Given the description of an element on the screen output the (x, y) to click on. 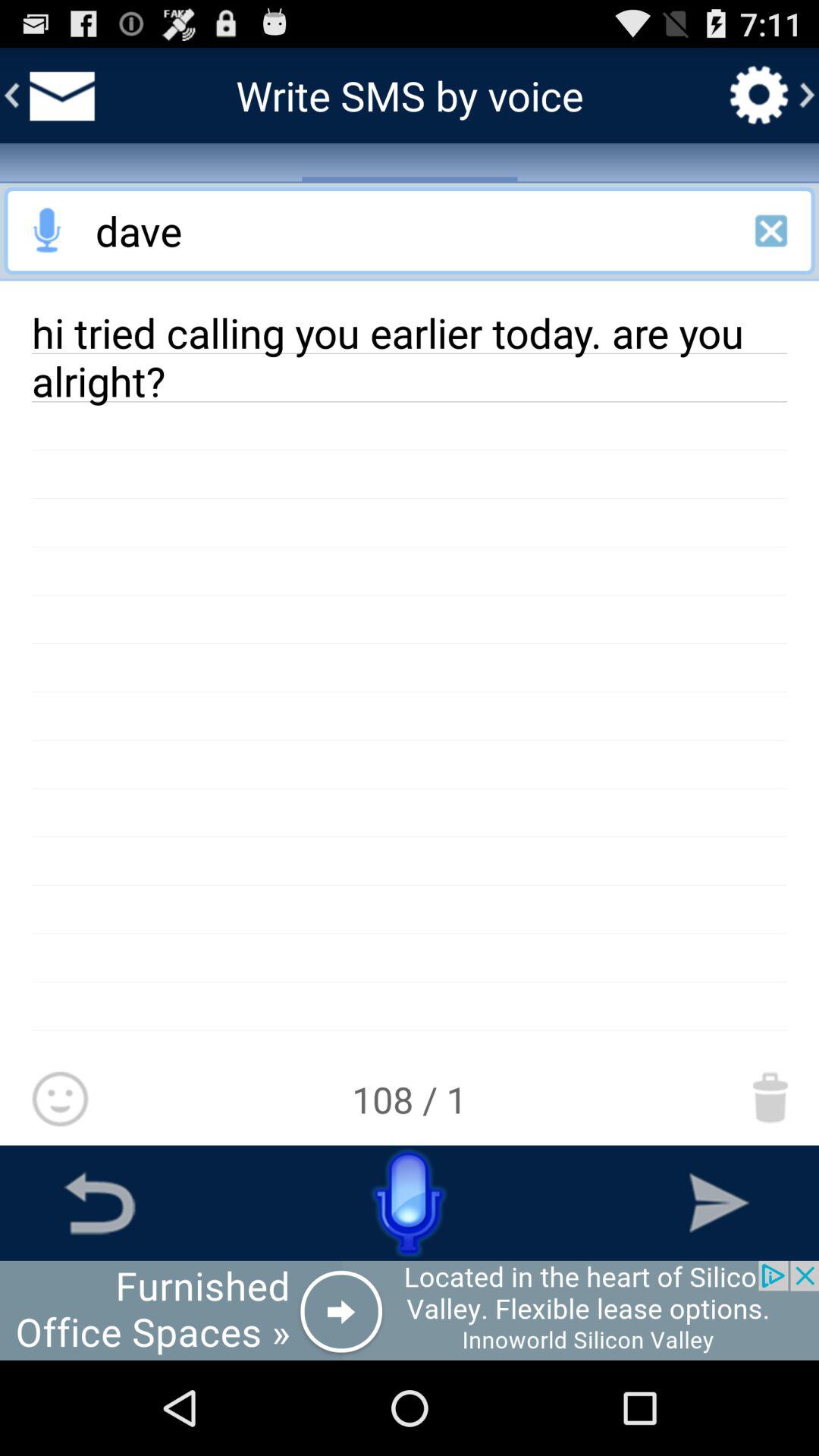
in voice (47, 230)
